Given the description of an element on the screen output the (x, y) to click on. 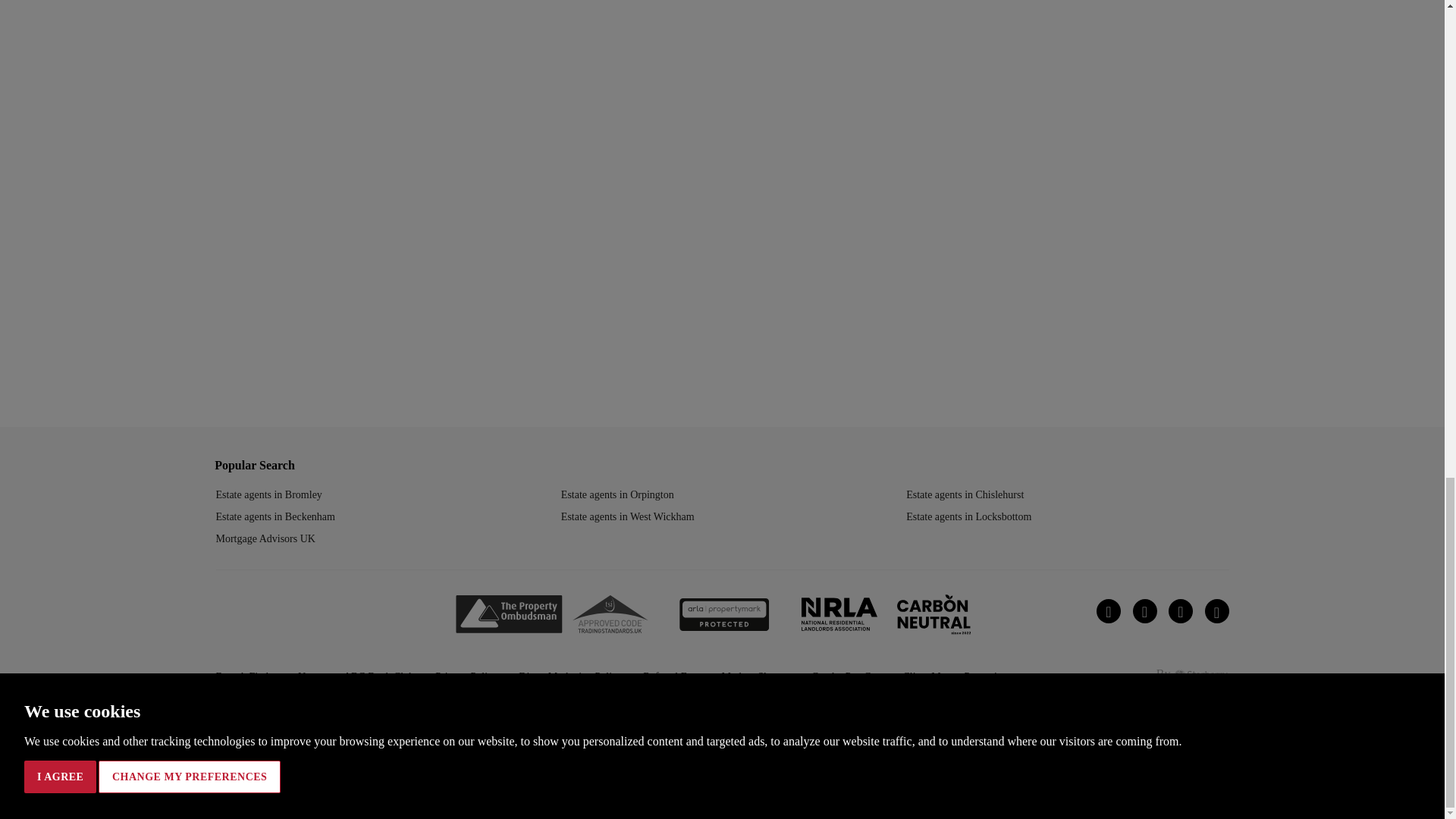
linkedin (1108, 610)
The Chartered Trading Standards Institute Logo (609, 614)
Propertymark Logo (725, 614)
Instagram (1180, 610)
Starberry (1201, 675)
The Property Ombudsman Logo (508, 613)
Twitter (1144, 610)
Facebook (1216, 610)
